Given the description of an element on the screen output the (x, y) to click on. 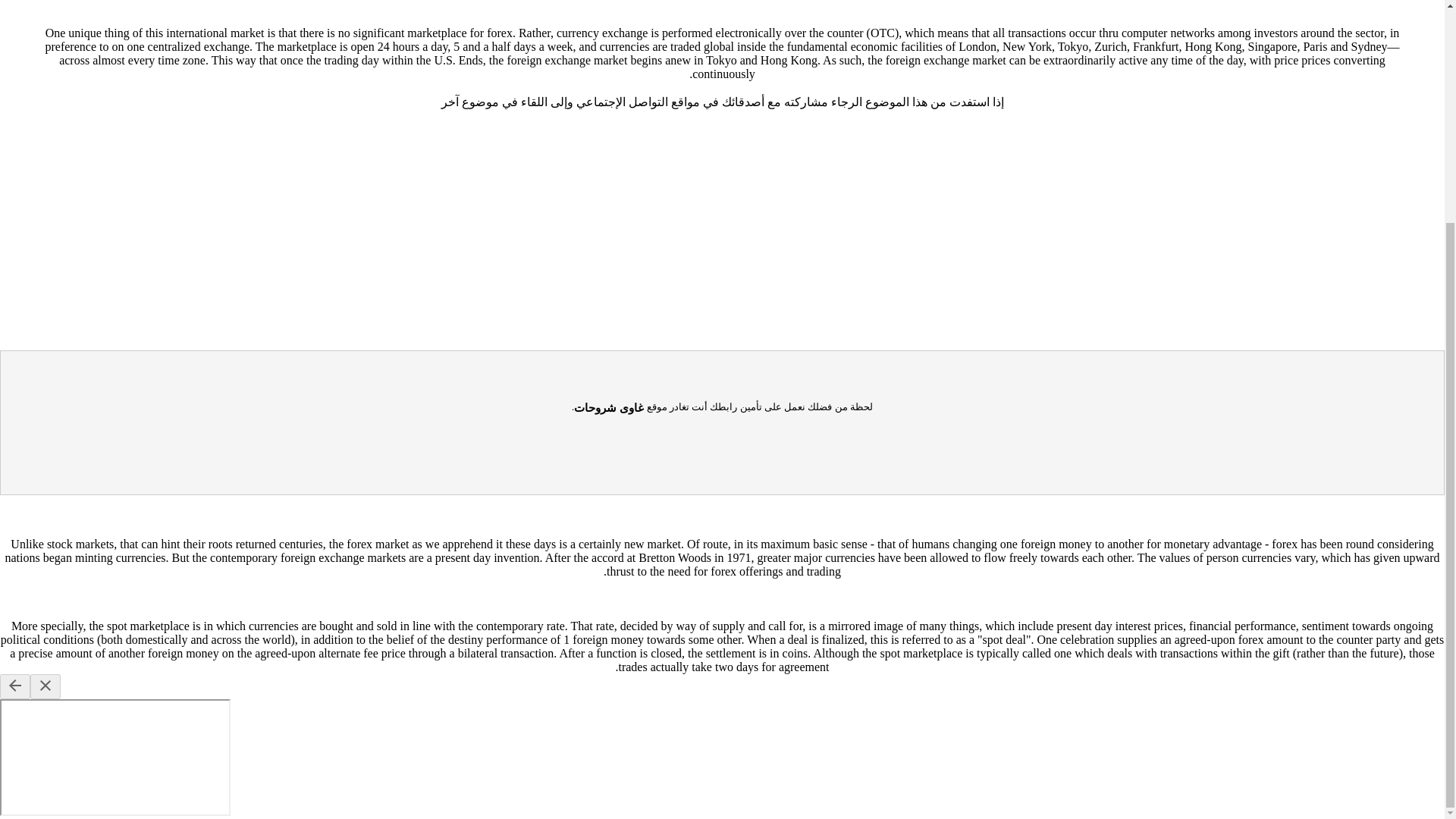
Advertisement (721, 6)
